Given the description of an element on the screen output the (x, y) to click on. 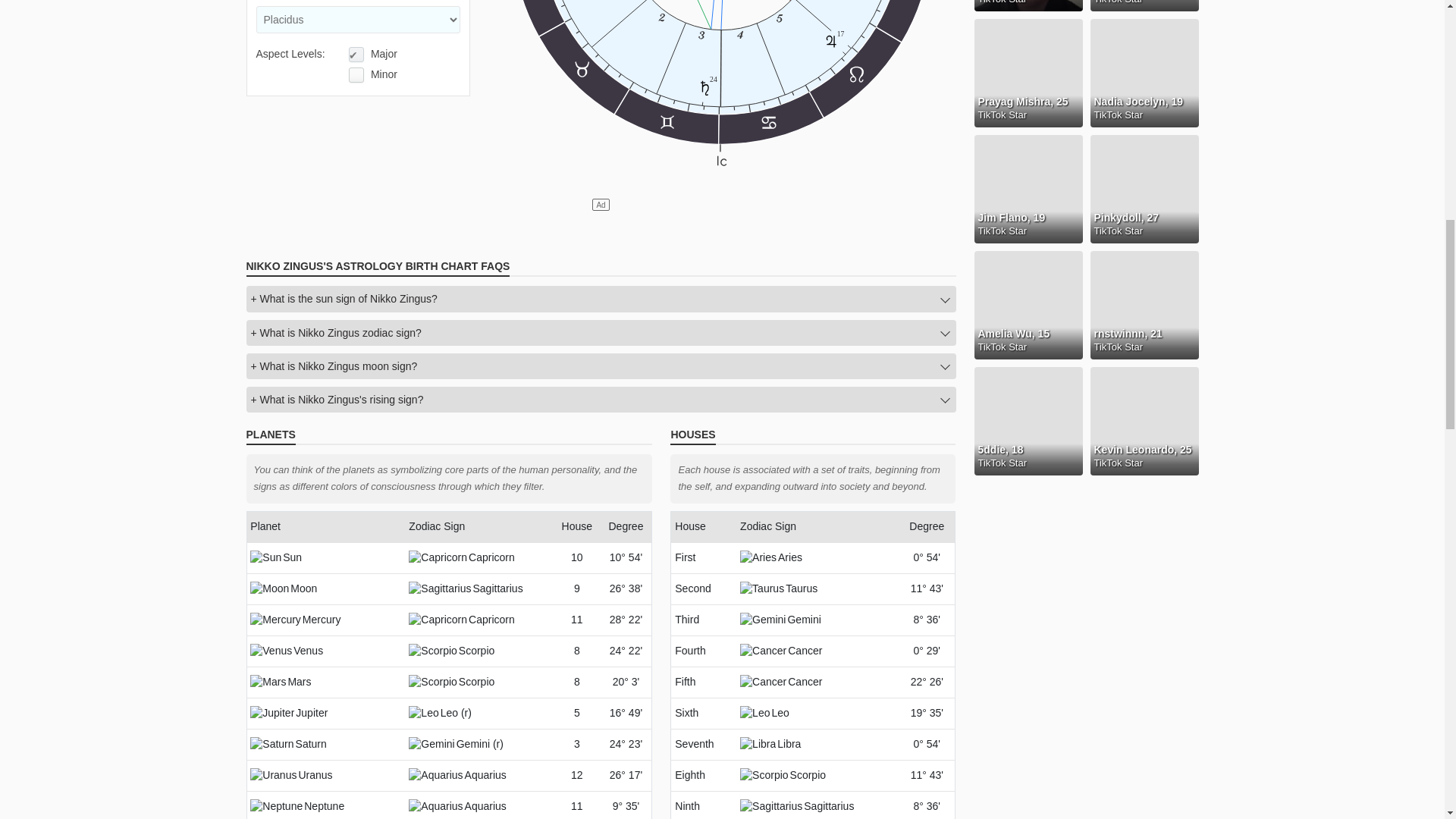
on (721, 88)
on (356, 54)
